Given the description of an element on the screen output the (x, y) to click on. 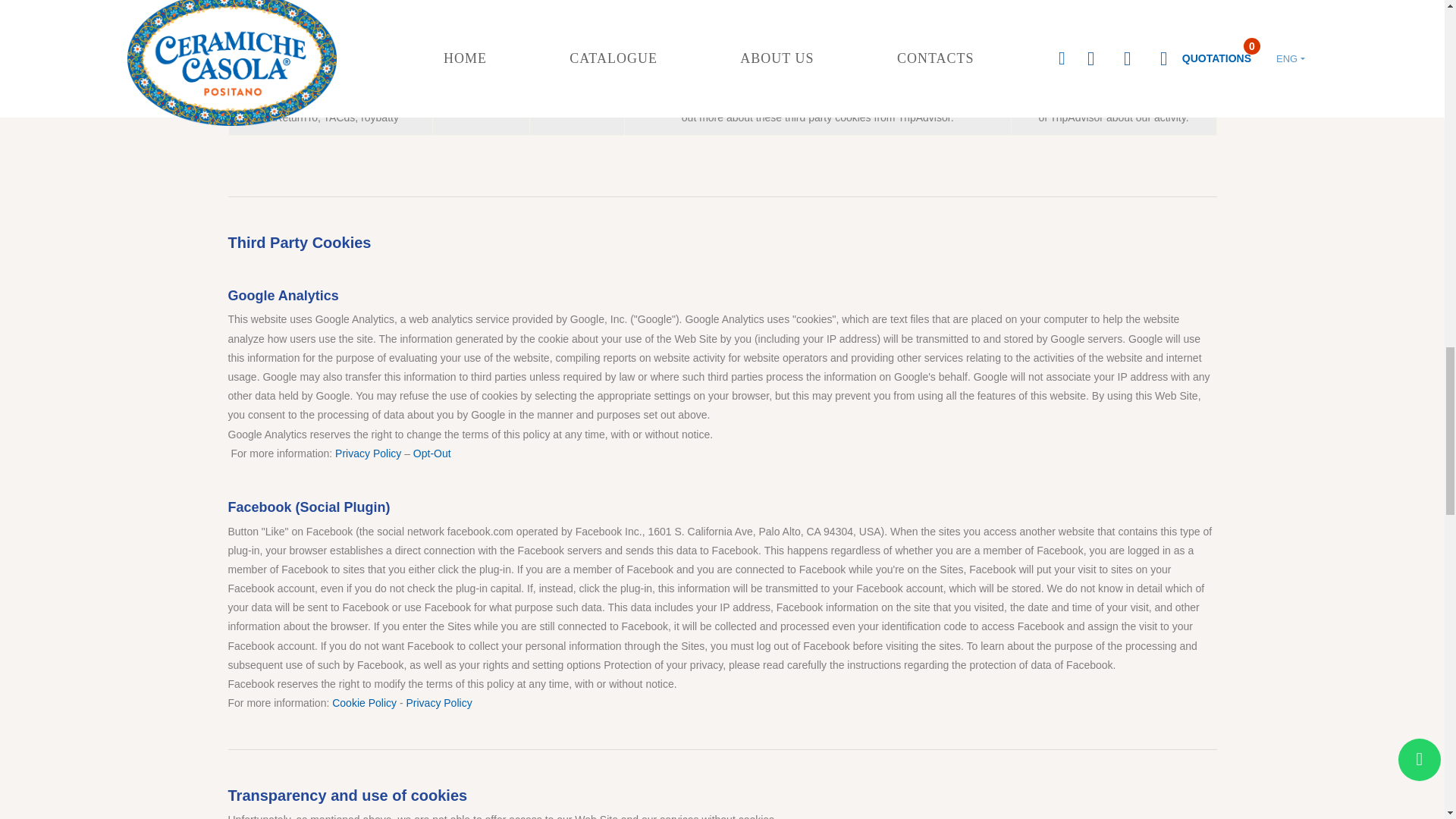
Privacy Policy (367, 453)
Cookie Policy (363, 702)
Privacy Policy (438, 702)
Opt-Out (432, 453)
